Given the description of an element on the screen output the (x, y) to click on. 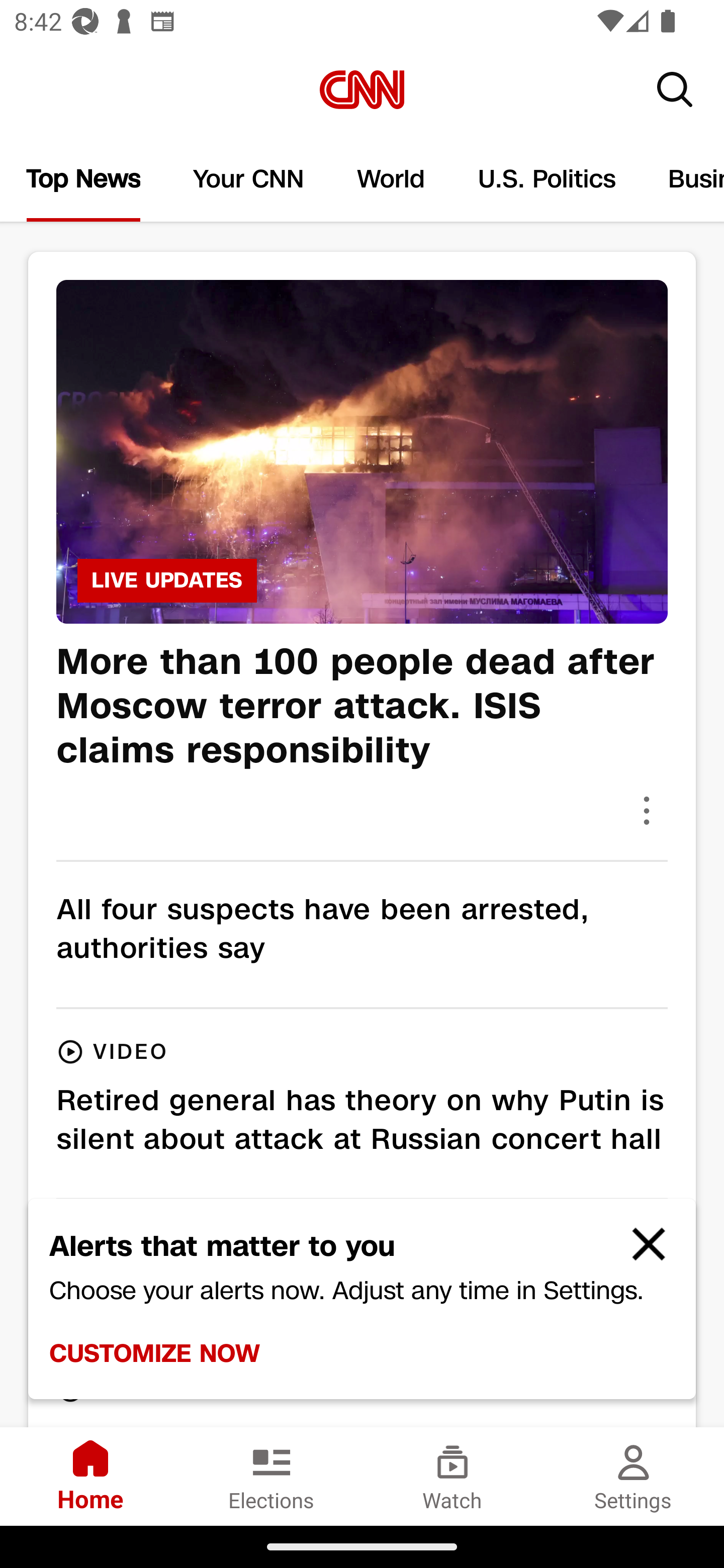
Your CNN (248, 179)
World (390, 179)
U.S. Politics (546, 179)
More actions (646, 810)
close (639, 1251)
Elections (271, 1475)
Watch (452, 1475)
Settings (633, 1475)
